Given the description of an element on the screen output the (x, y) to click on. 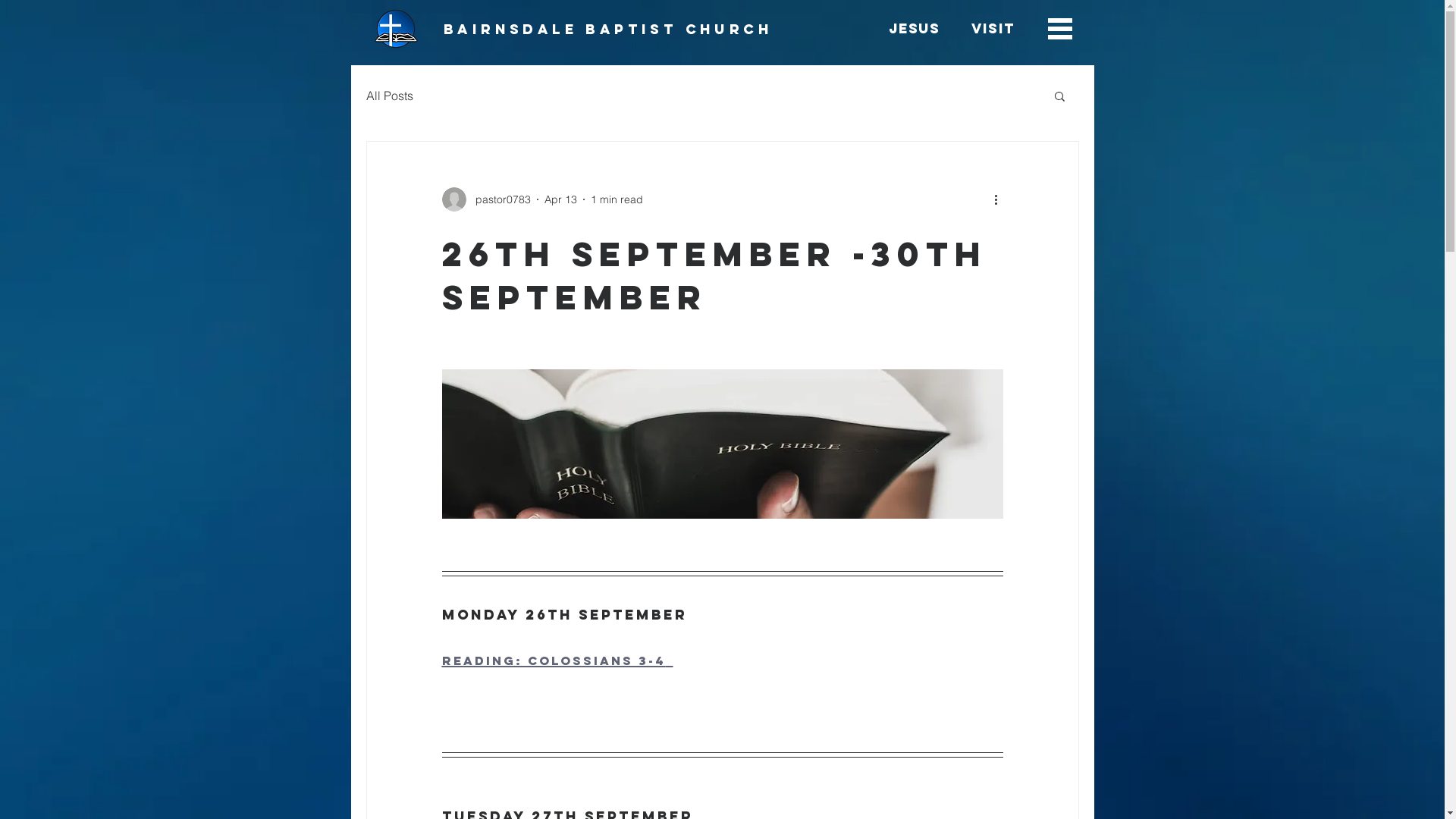
All Posts Element type: text (388, 95)
Jesus Element type: text (913, 28)
Bairnsdale Baptist Church Element type: text (607, 28)
pastor0783 Element type: text (485, 199)
Reading: colossians 3-4  Element type: text (556, 658)
Visit Element type: text (992, 28)
